Given the description of an element on the screen output the (x, y) to click on. 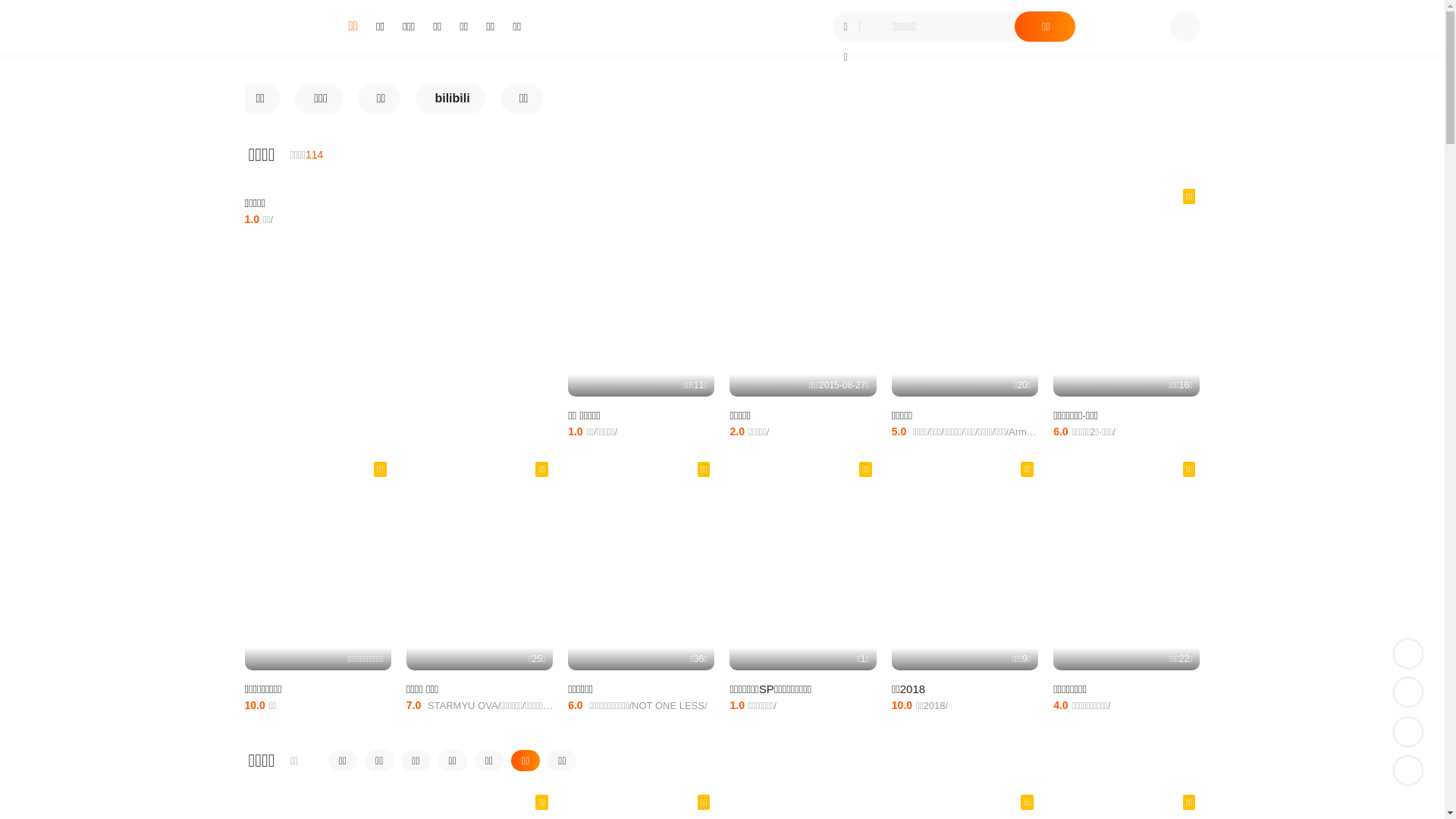
bilibili Element type: text (449, 98)
